Given the description of an element on the screen output the (x, y) to click on. 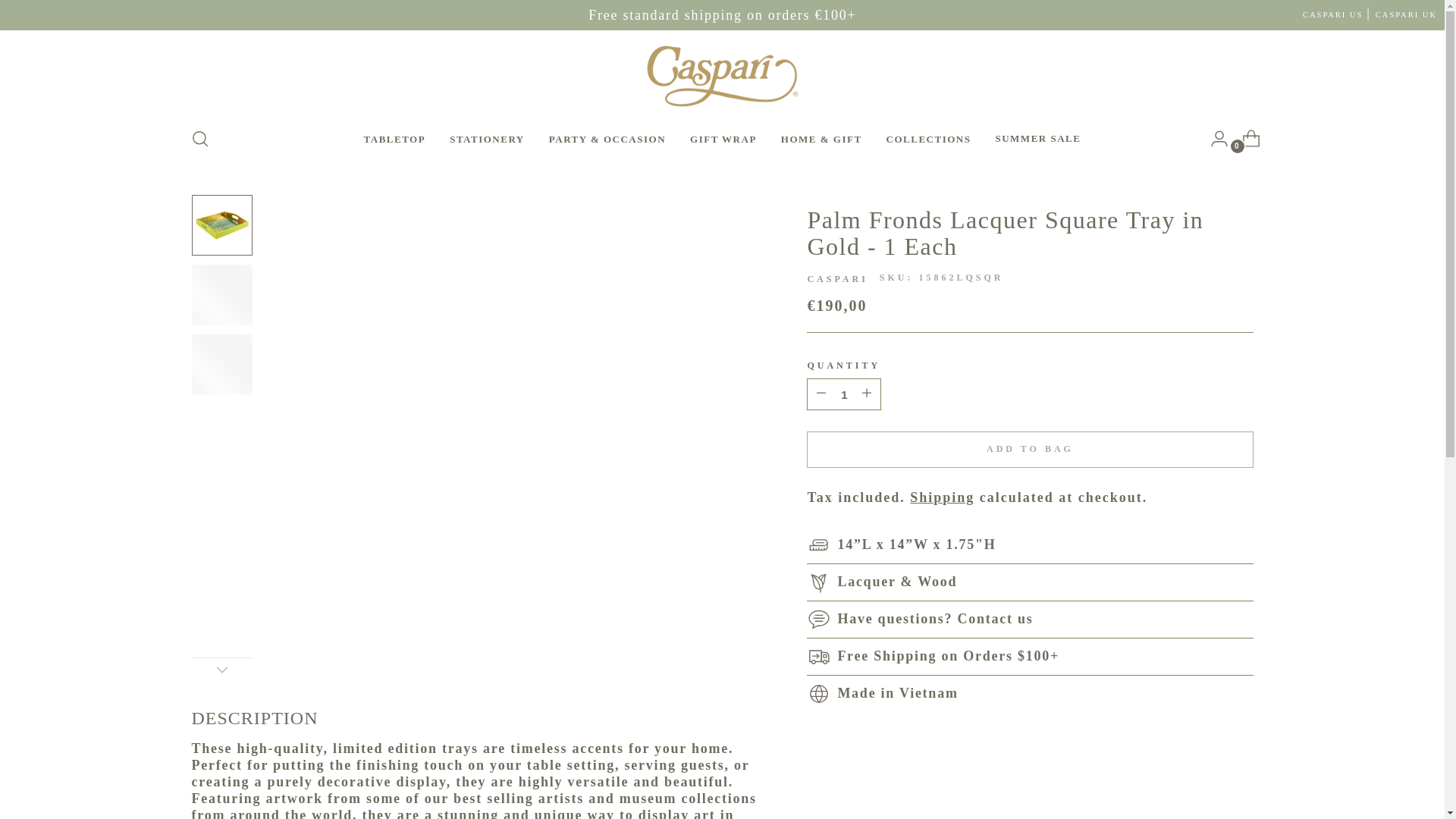
TABLETOP (395, 138)
STATIONERY (490, 138)
Caspari (836, 278)
Down (220, 669)
CASPARI US (1332, 14)
STATIONERY (486, 138)
CASPARI UK (1406, 14)
1 (843, 394)
TABLETOP (398, 138)
